Given the description of an element on the screen output the (x, y) to click on. 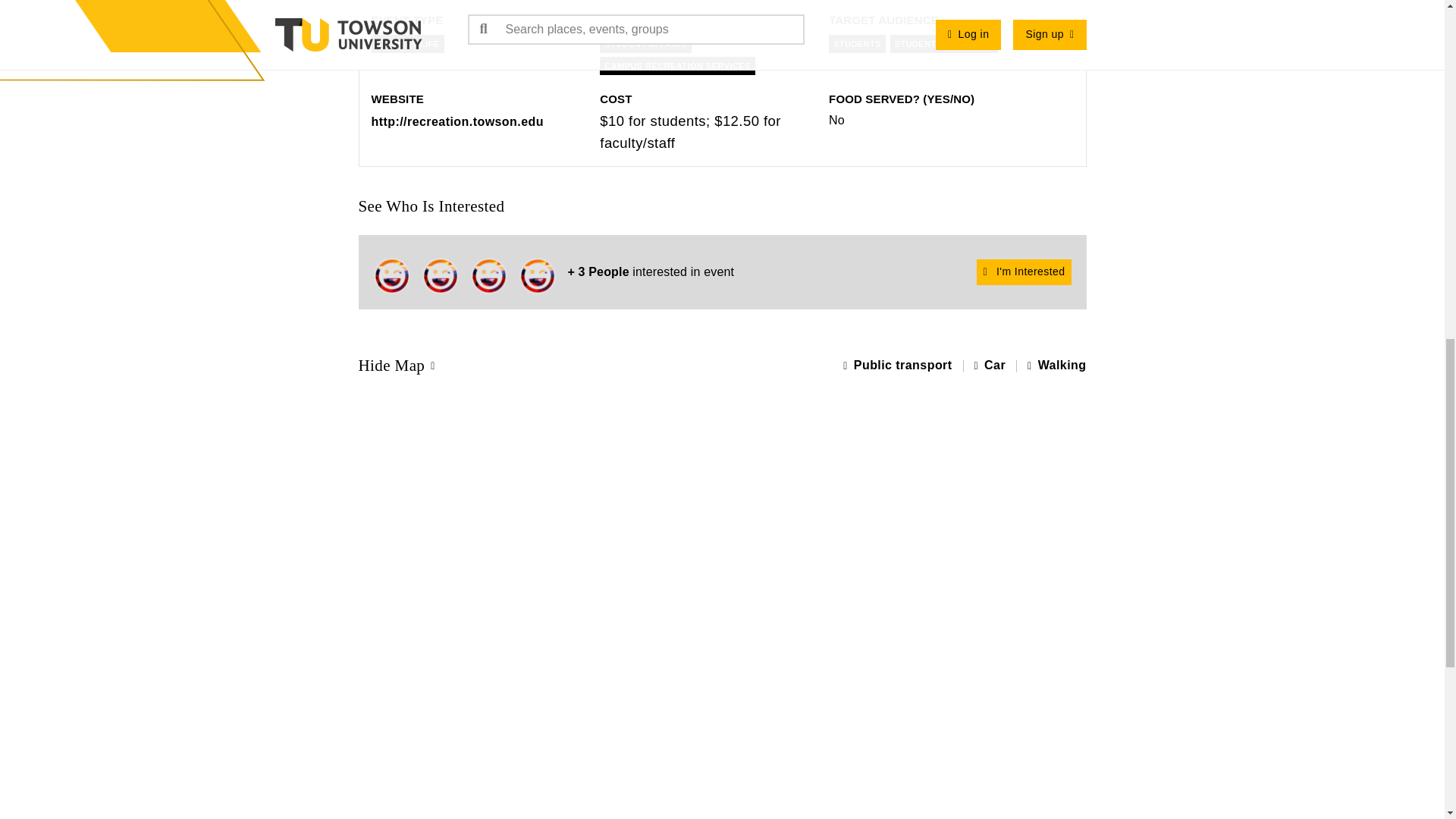
CAMPUS RECREATION SERVICES (677, 65)
Robert Kay (536, 275)
STUDENT LIFE (407, 44)
Karson O'Dell (440, 275)
Charie Lou Maribao (488, 275)
STUDENT AFFAIRS (644, 44)
Connor Cunnane (390, 275)
STUDENTS (856, 44)
